Given the description of an element on the screen output the (x, y) to click on. 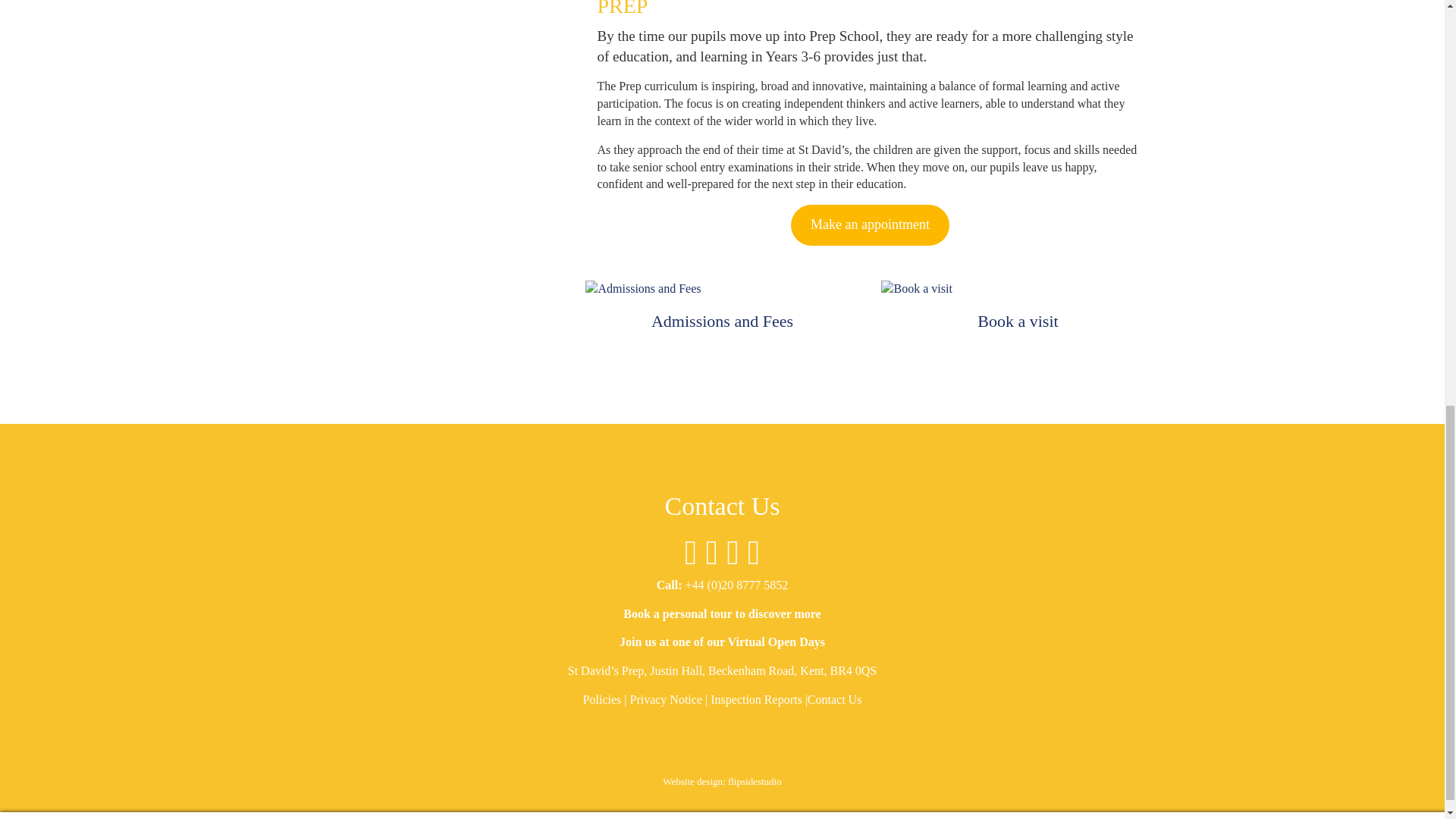
Contact Us (834, 698)
Admissions and Fees (721, 321)
flipsidestudio (754, 781)
Inspection Reports (756, 698)
Join us at one of our Virtual Open Days (722, 641)
Policies (602, 698)
Book a visit (1017, 321)
Book a personal tour to discover more (722, 613)
Make an appointment (869, 224)
Privacy Notice (664, 698)
